Given the description of an element on the screen output the (x, y) to click on. 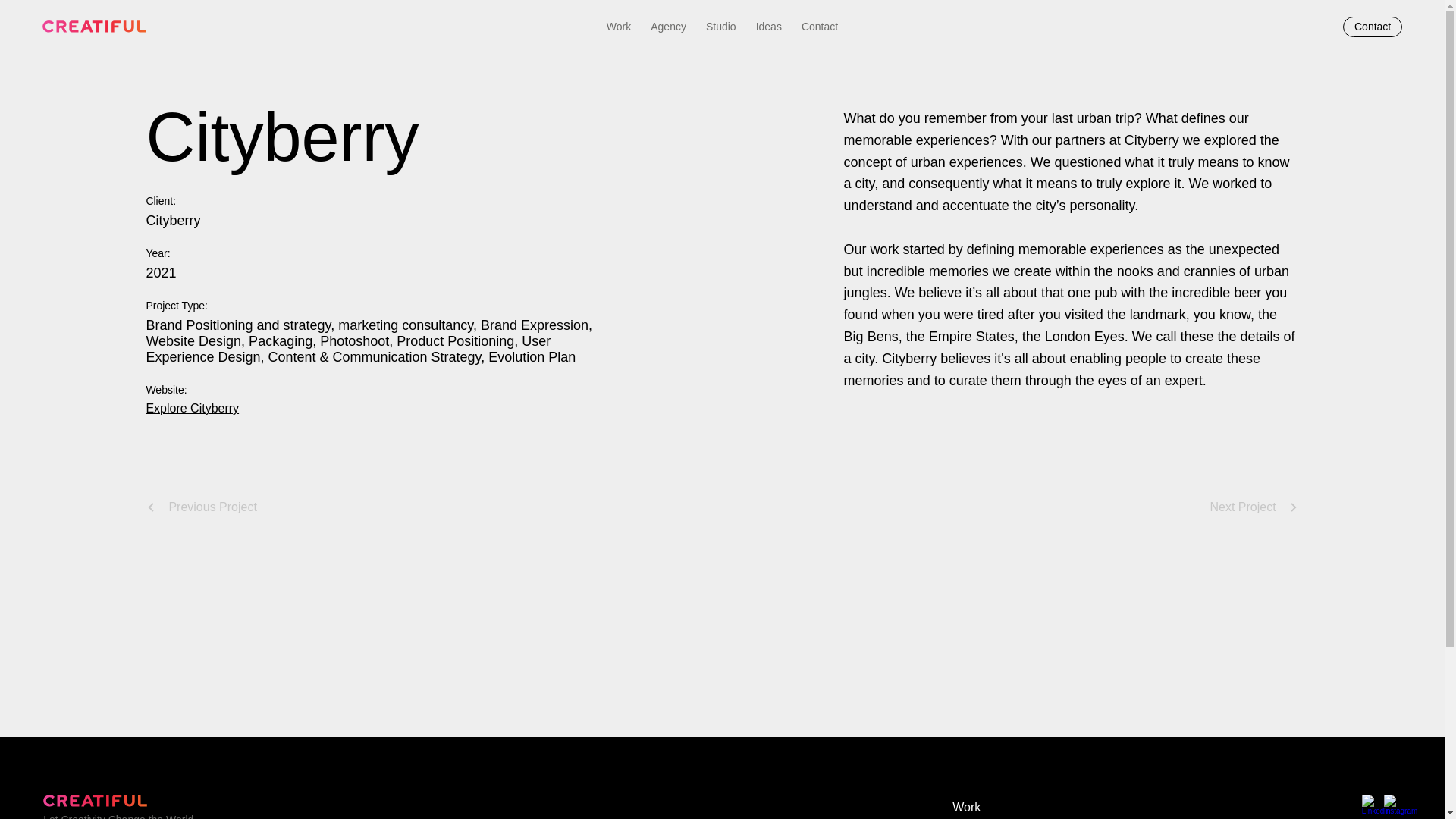
Work (618, 26)
Studio (721, 26)
Agency (668, 26)
Contact (1372, 26)
Work (1013, 806)
Previous Project (201, 507)
Contact (819, 26)
Ideas (768, 26)
Next Project (1253, 507)
Explore Cityberry (191, 408)
